Given the description of an element on the screen output the (x, y) to click on. 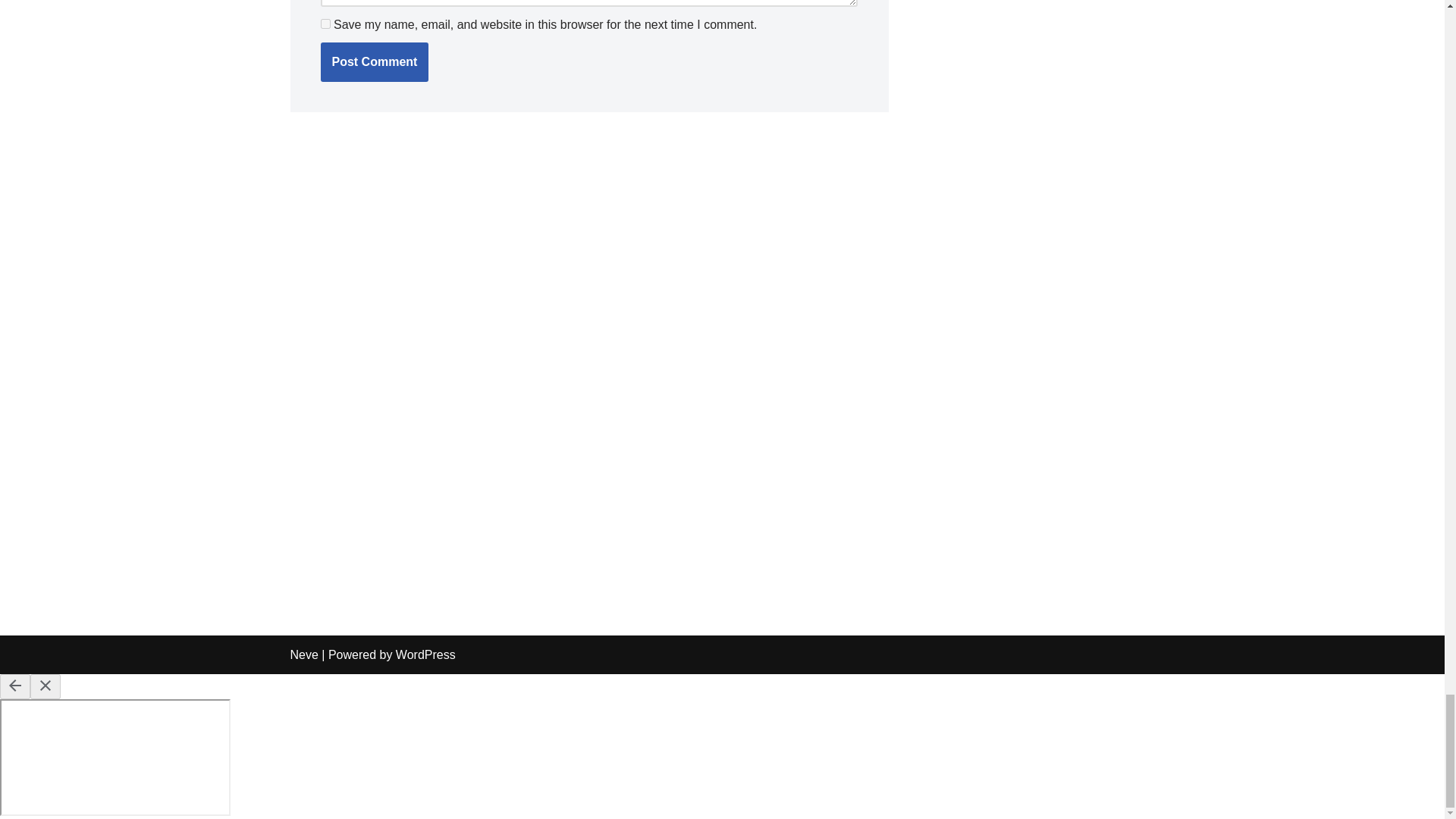
Post Comment (374, 61)
yes (325, 23)
Post Comment (374, 61)
Neve (303, 654)
WordPress (425, 654)
